Given the description of an element on the screen output the (x, y) to click on. 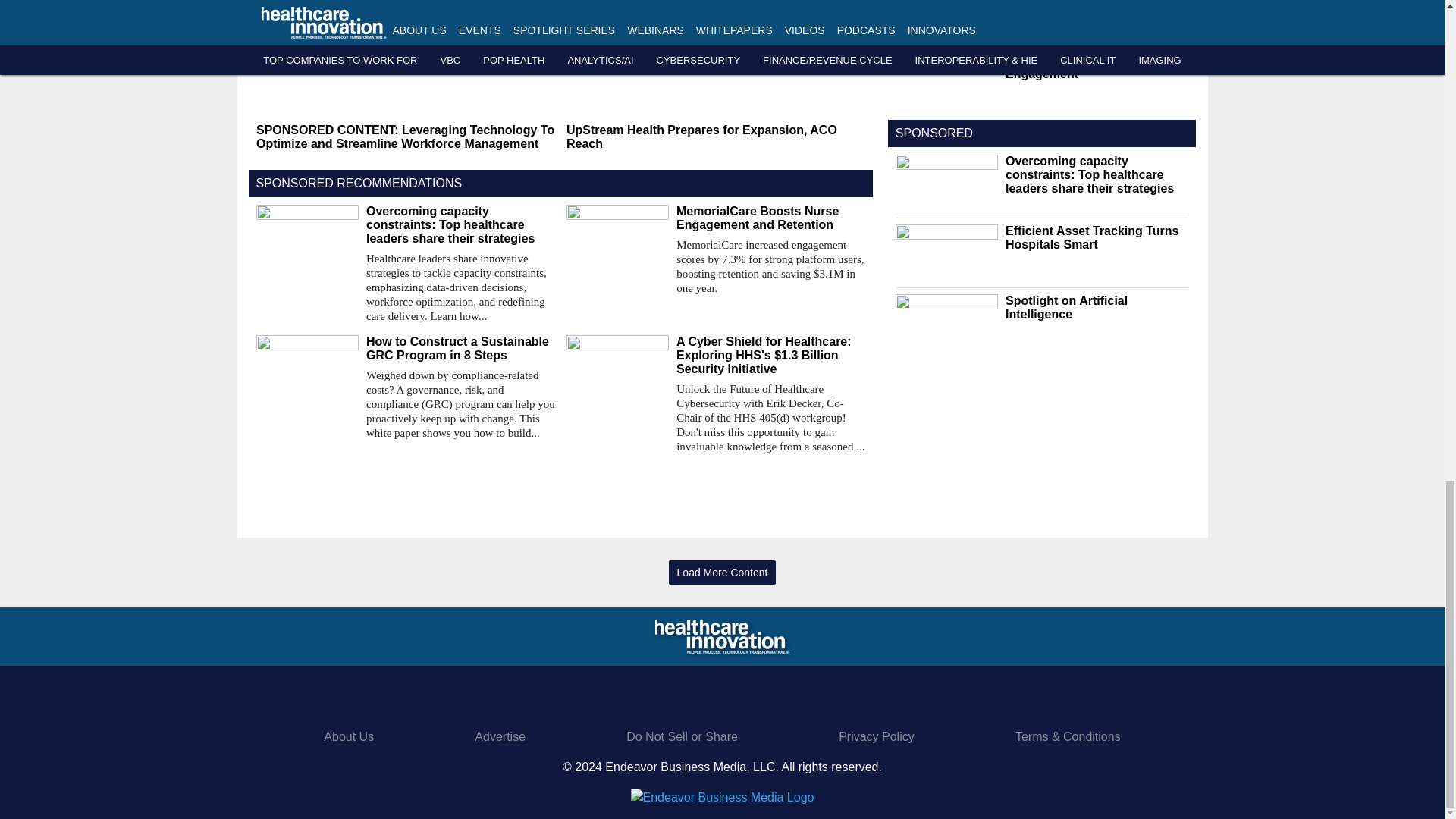
MemorialCare Boosts Nurse Engagement and Retention (770, 217)
UpStream Health Prepares for Expansion, ACO Reach (715, 136)
How to Construct a Sustainable GRC Program in 8 Steps (459, 348)
